Given the description of an element on the screen output the (x, y) to click on. 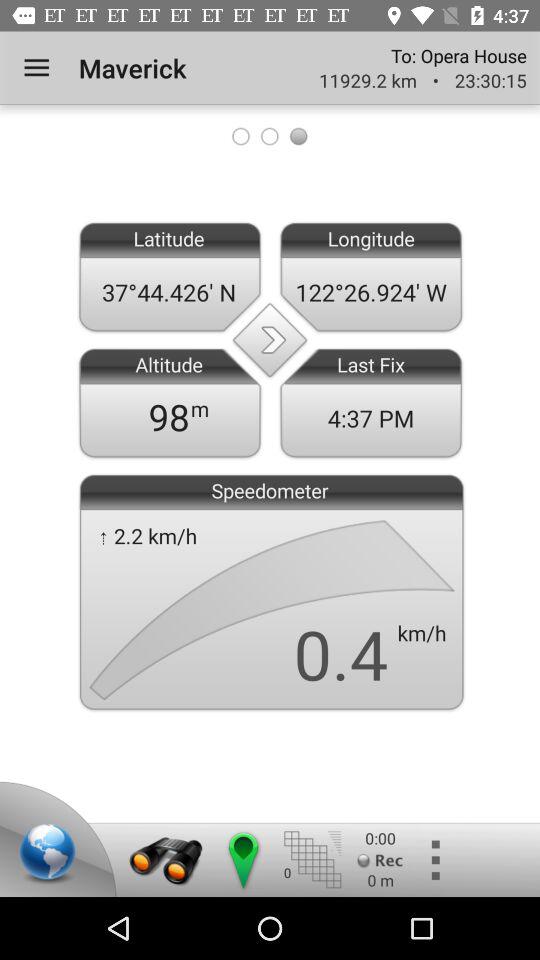
know the location (242, 860)
